Given the description of an element on the screen output the (x, y) to click on. 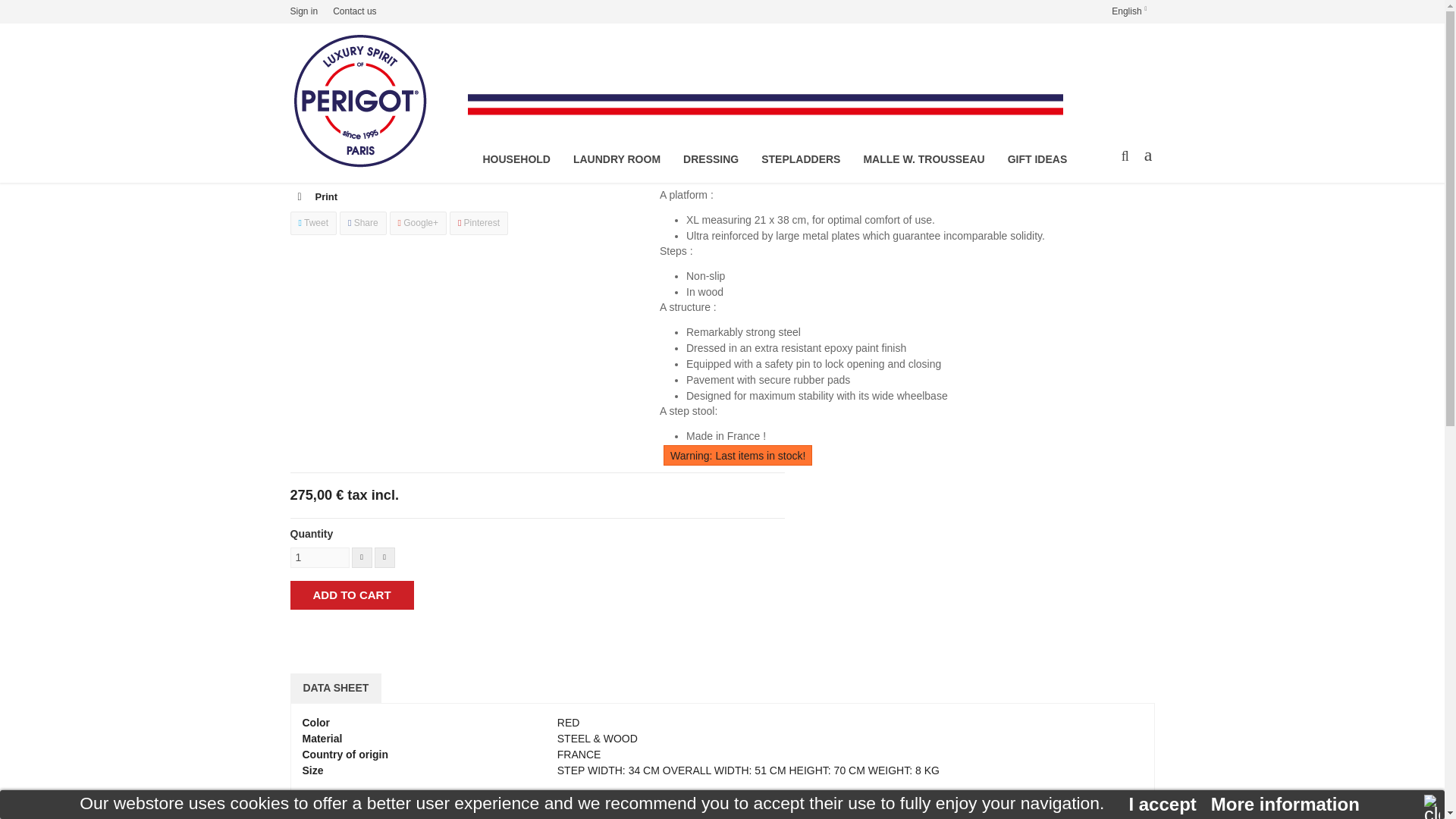
LAUNDRY ROOM (616, 158)
MALLE W. TROUSSEAU (923, 158)
1 (319, 557)
Contact us (354, 11)
LAUNDRY ROOM (616, 158)
GIFT IDEAS (1036, 158)
STEPLADDERS (800, 158)
Sign in (306, 11)
Log in to your customer account (306, 11)
DRESSING (710, 158)
HOUSEHOLD (513, 158)
Perigot.fr (372, 103)
DRESSING (710, 158)
I accept (1161, 804)
HOUSEHOLD (513, 158)
